Given the description of an element on the screen output the (x, y) to click on. 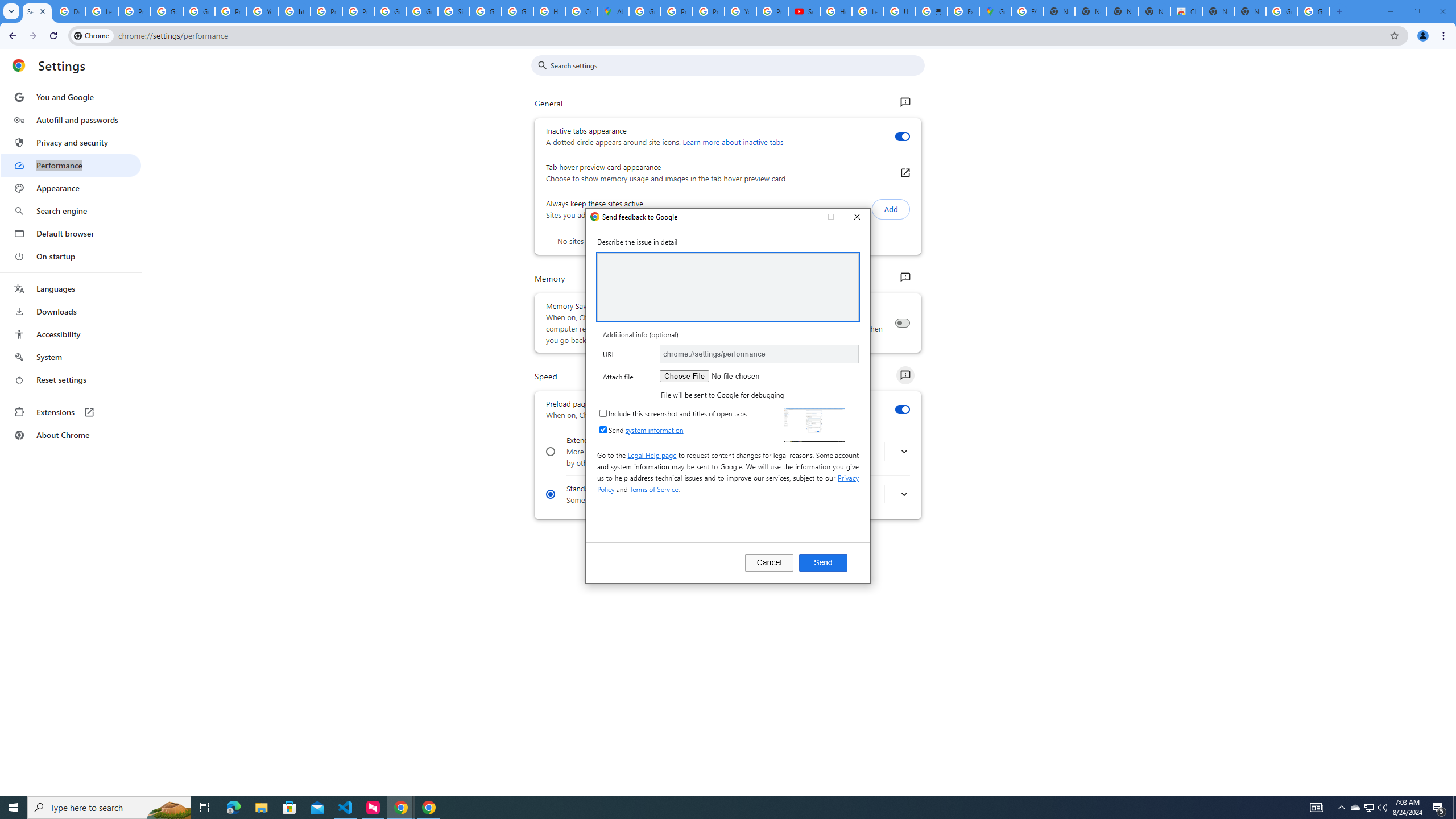
Privacy and security (70, 142)
Choose File: No file chosen (731, 376)
Notification Chevron (1341, 807)
Create your Google Account (581, 11)
Standard preloading (550, 493)
Google Chrome - 1 running window (428, 807)
Show desktop (1454, 807)
Q2790: 100% (1382, 807)
Include this screenshot and titles of open tabs (603, 412)
New Tab (1249, 11)
